Given the description of an element on the screen output the (x, y) to click on. 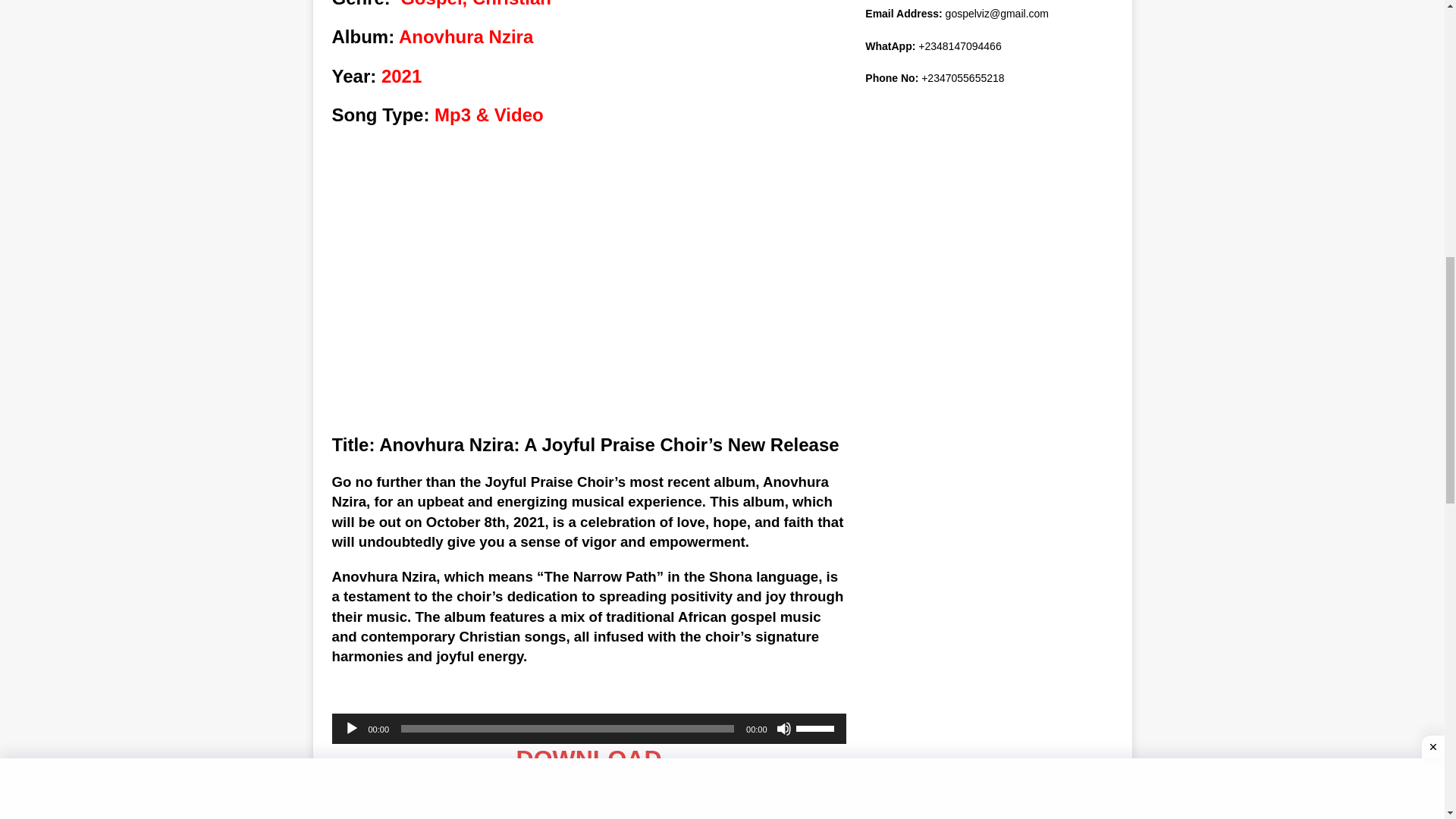
YouTube video player (588, 292)
DOWNLOAD (589, 759)
Play (351, 728)
Mute (784, 728)
